Given the description of an element on the screen output the (x, y) to click on. 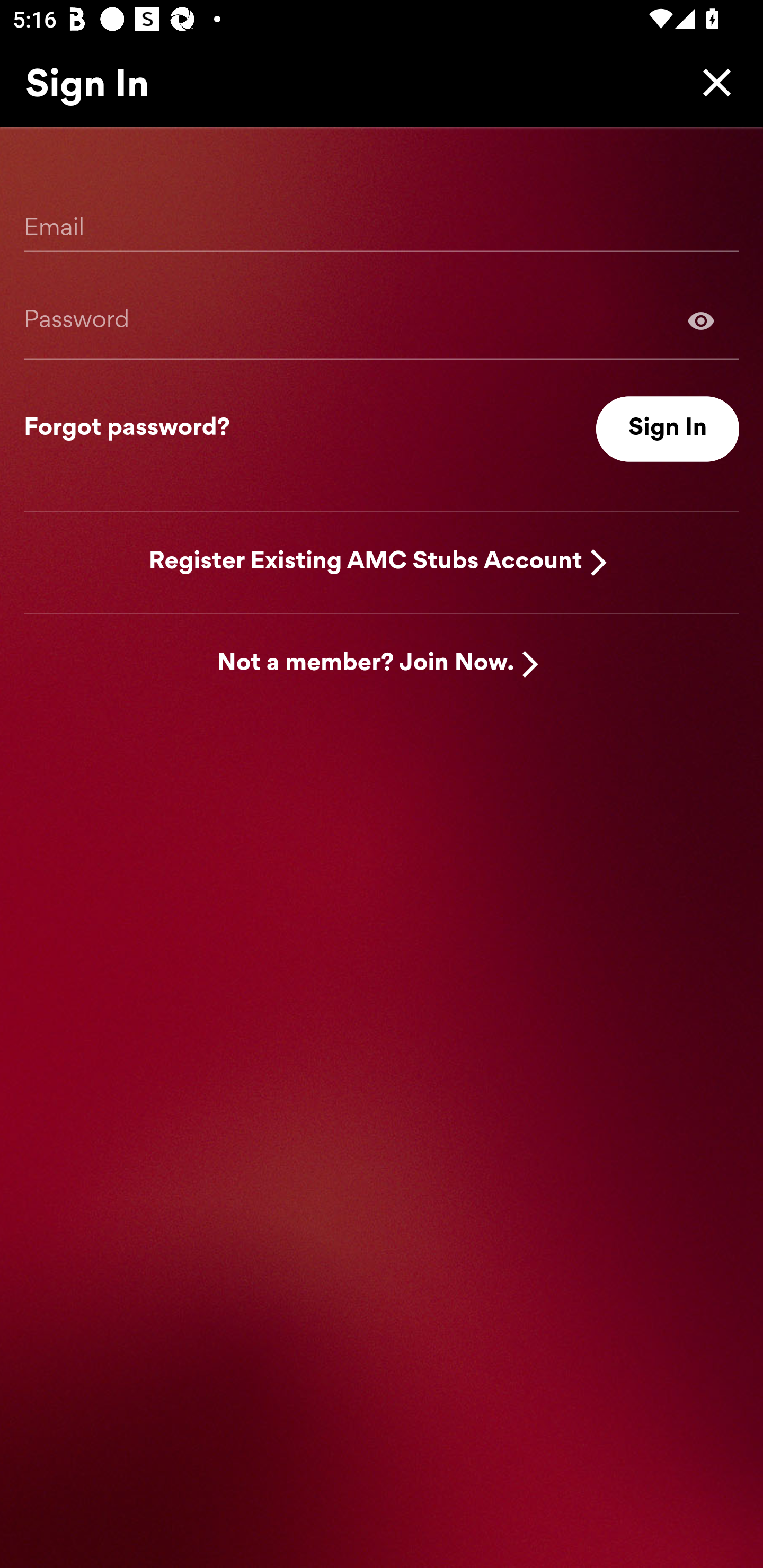
Close (712, 82)
Show Password (381, 320)
Show Password (701, 320)
Forgot password? (126, 428)
Sign In (667, 428)
Register Existing AMC Stubs Account (365, 561)
Not a member? Join Now. (365, 663)
